Given the description of an element on the screen output the (x, y) to click on. 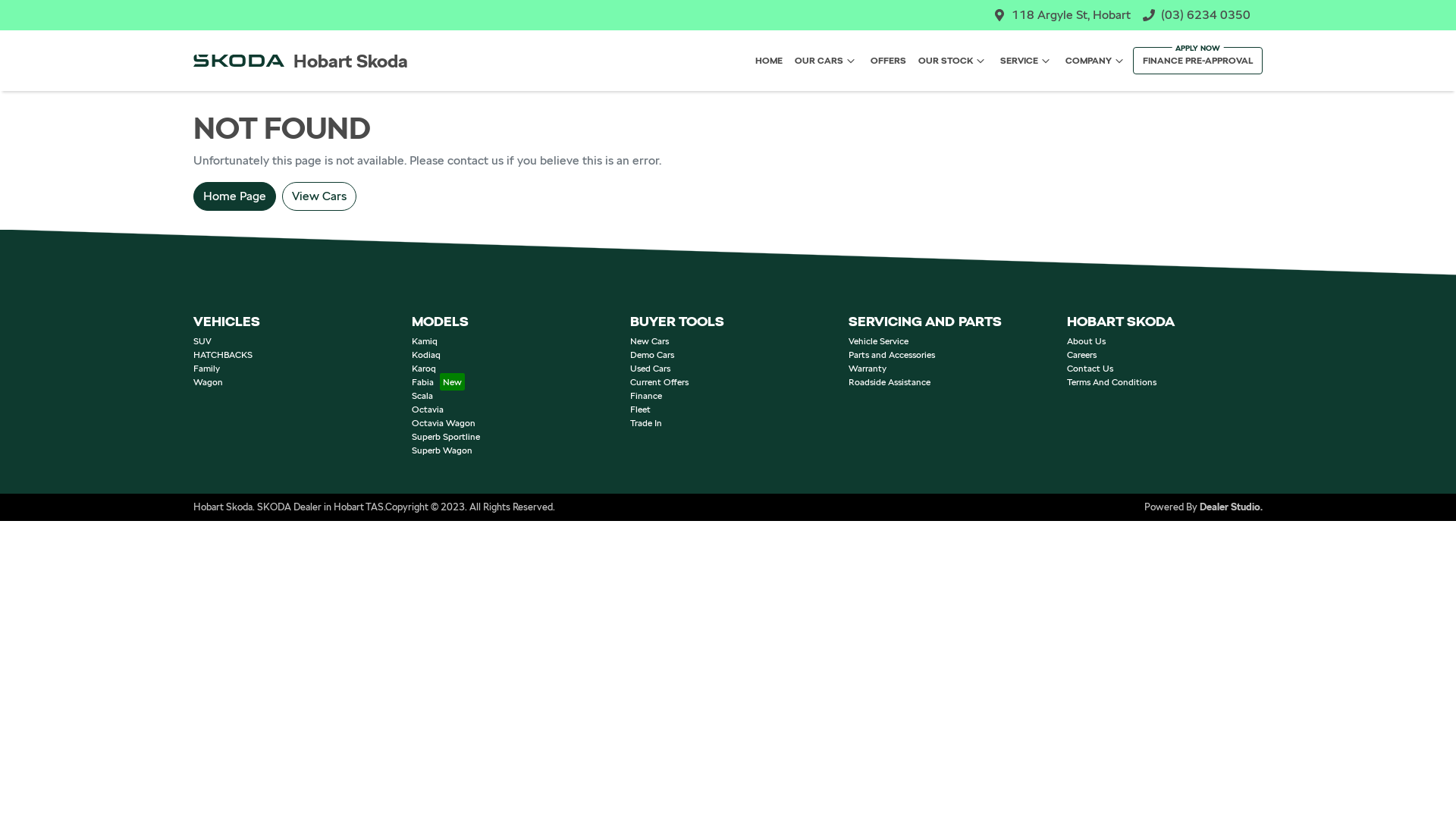
Fabia Element type: text (437, 381)
Current Offers Element type: text (659, 381)
Home Page Element type: text (234, 196)
Vehicle Service Element type: text (878, 340)
Dealer Studio. Element type: text (1230, 506)
Kodiaq Element type: text (425, 354)
Superb Sportline Element type: text (445, 436)
Hobart Skoda Element type: text (300, 60)
Scala Element type: text (422, 395)
Roadside Assistance Element type: text (889, 381)
Fleet Element type: text (640, 408)
Parts and Accessories Element type: text (891, 354)
Superb Wagon Element type: text (441, 449)
Octavia Wagon Element type: text (443, 422)
Terms And Conditions Element type: text (1111, 381)
OUR CARS Element type: text (826, 60)
Used Cars Element type: text (650, 367)
HATCHBACKS Element type: text (222, 354)
SUV Element type: text (202, 340)
Kamiq Element type: text (424, 340)
OFFERS Element type: text (888, 60)
Trade In Element type: text (646, 422)
Karoq Element type: text (423, 367)
View Cars Element type: text (319, 196)
OUR STOCK Element type: text (953, 60)
COMPANY Element type: text (1095, 60)
Warranty Element type: text (867, 367)
Wagon Element type: text (207, 381)
Finance Element type: text (646, 395)
Family Element type: text (206, 367)
118 Argyle St, Hobart Element type: text (1070, 14)
FINANCE PRE-APPROVAL Element type: text (1197, 60)
About Us Element type: text (1085, 340)
HOME Element type: text (768, 60)
Careers Element type: text (1081, 354)
(03) 6234 0350 Element type: text (1205, 14)
Demo Cars Element type: text (652, 354)
New Cars Element type: text (649, 340)
SERVICE Element type: text (1026, 60)
Octavia Element type: text (427, 408)
Contact Us Element type: text (1089, 367)
